Given the description of an element on the screen output the (x, y) to click on. 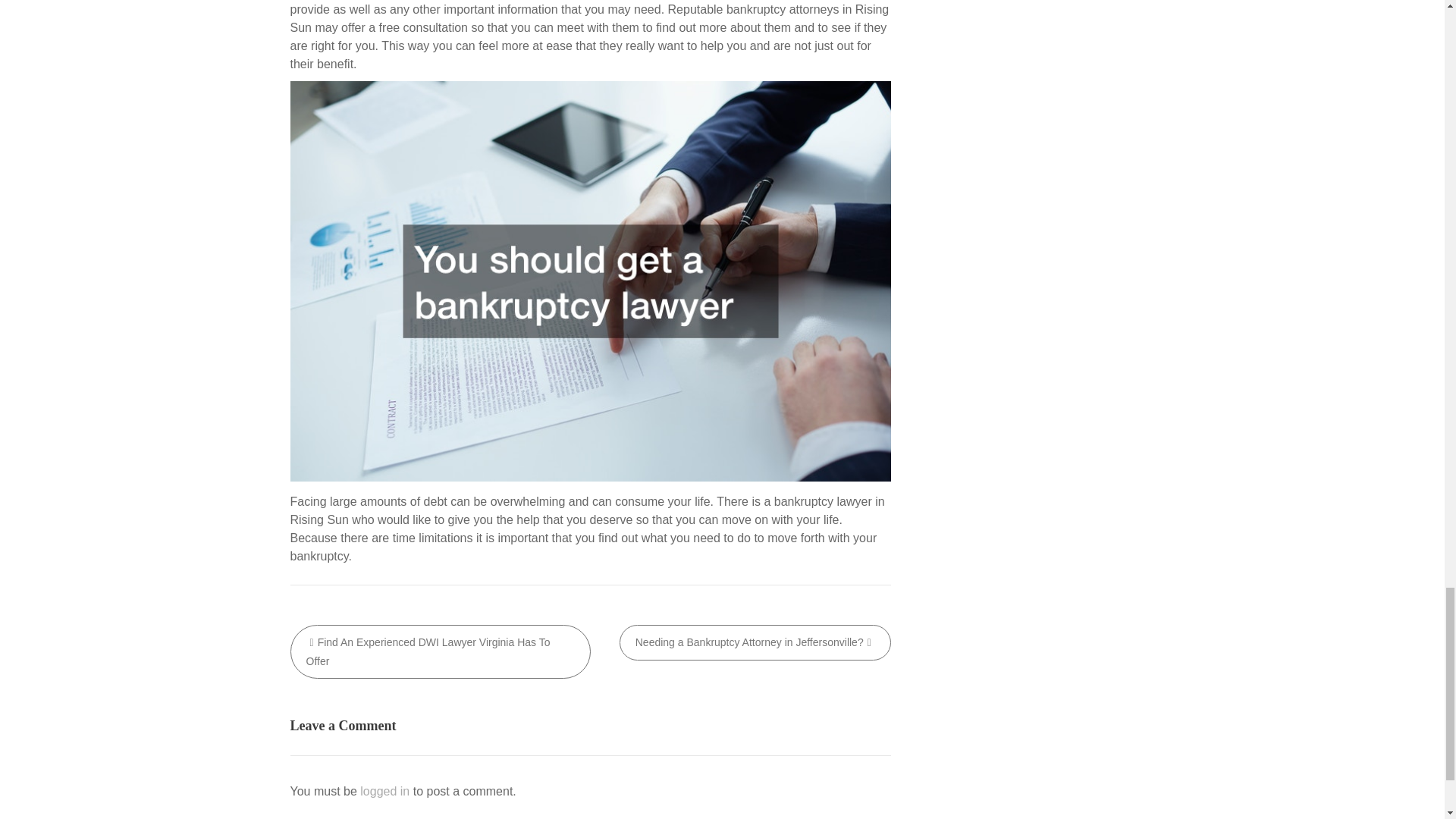
Needing a Bankruptcy Attorney in Jeffersonville? (755, 642)
Find An Experienced DWI Lawyer Virginia Has To Offer (439, 651)
logged in (384, 790)
